Given the description of an element on the screen output the (x, y) to click on. 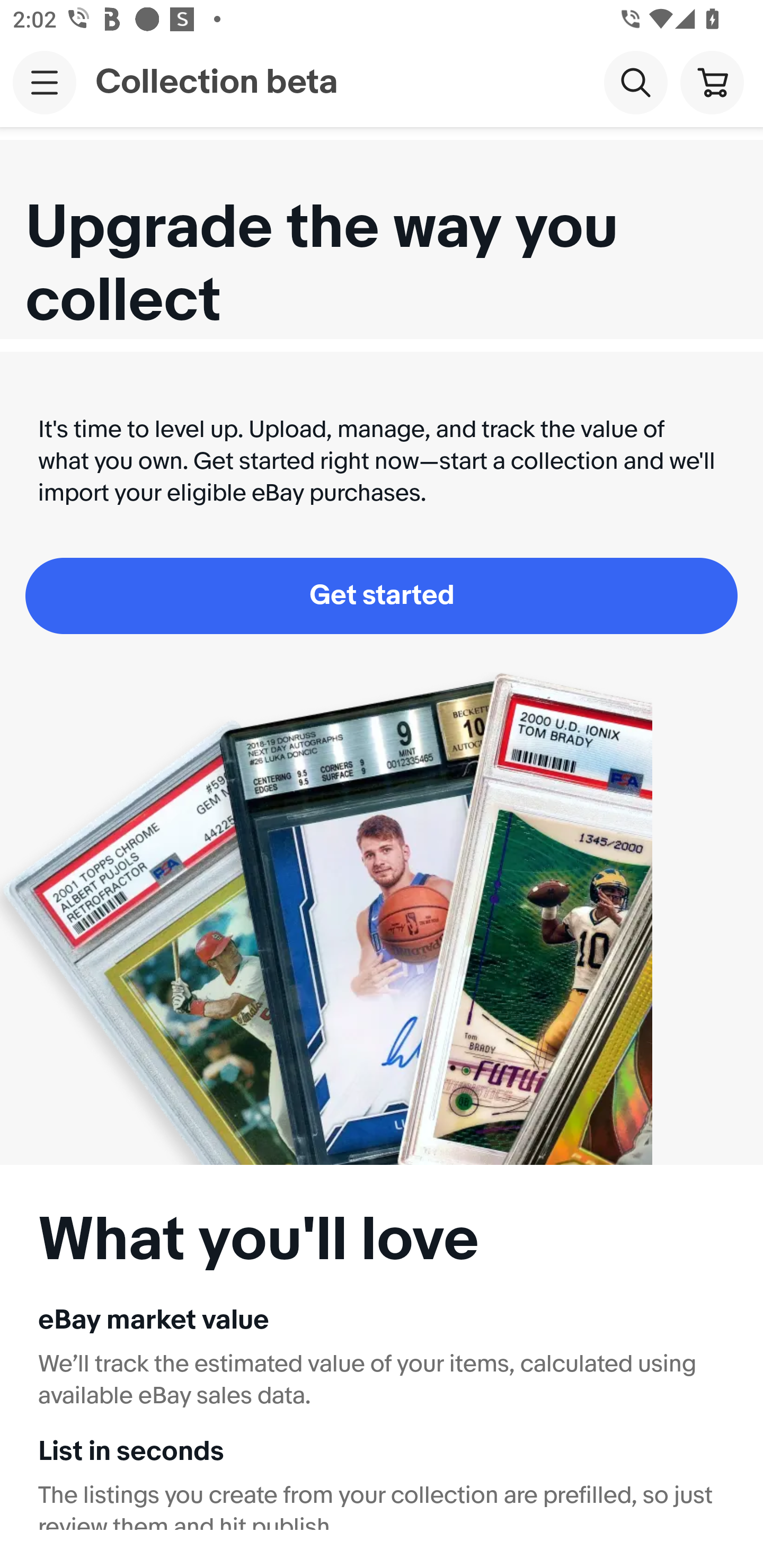
Main navigation, open (44, 82)
Search (635, 81)
Cart button shopping cart (711, 81)
Get started (381, 595)
